Given the description of an element on the screen output the (x, y) to click on. 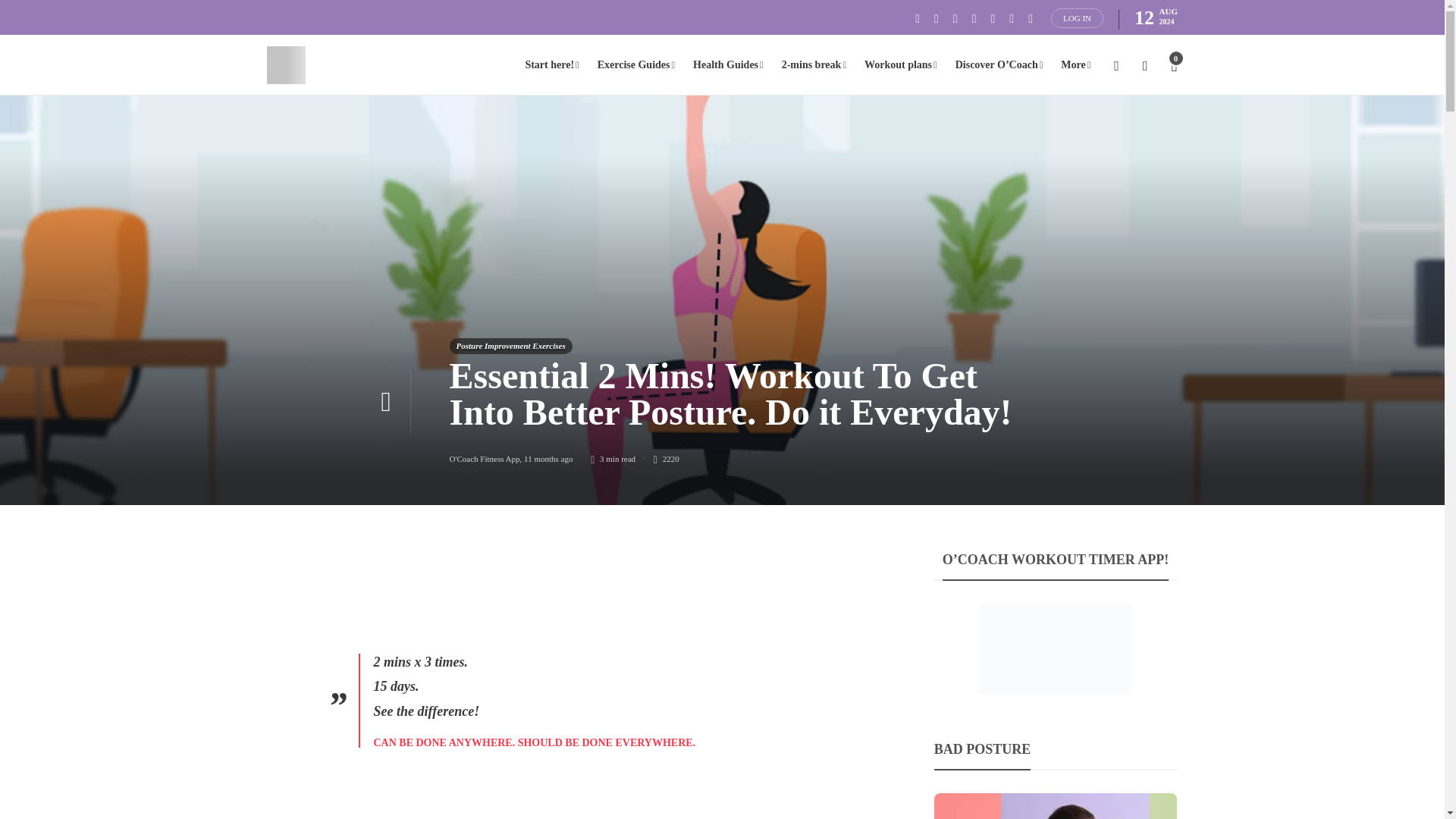
Start here! (551, 65)
Exercise Guides (635, 65)
LOG IN (1077, 17)
